Given the description of an element on the screen output the (x, y) to click on. 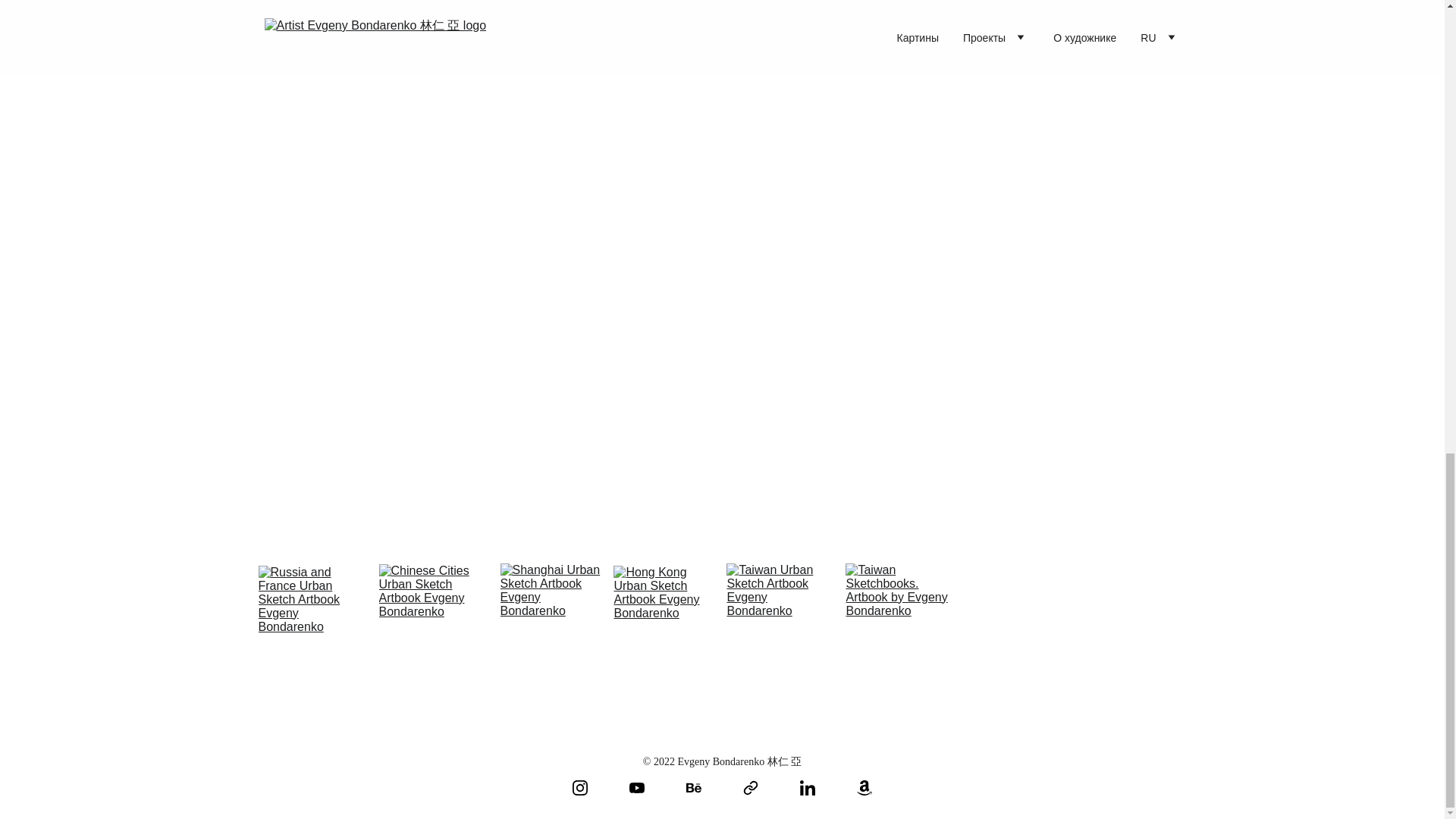
Go to Linkedin-in page (807, 787)
Go to Instagram page (580, 787)
Go to Behance page (693, 787)
Go to  page (750, 787)
Go to Amazon page (864, 787)
Go to Youtube page (636, 787)
